Given the description of an element on the screen output the (x, y) to click on. 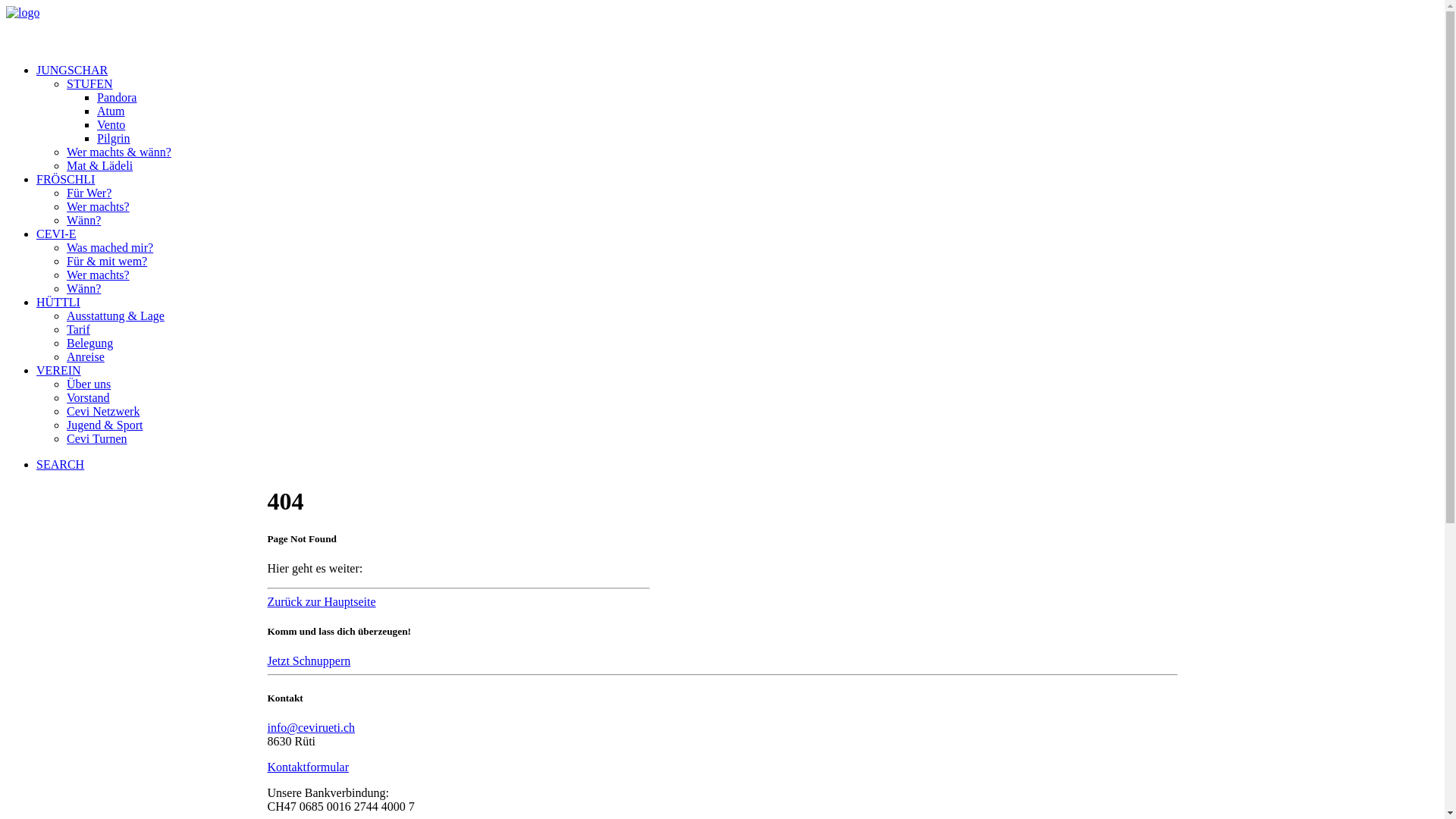
Belegung Element type: text (89, 342)
VEREIN Element type: text (58, 370)
CEVI-E Element type: text (55, 233)
Wer machts? Element type: text (97, 274)
STUFEN Element type: text (89, 83)
Cevi Netzwerk Element type: text (102, 410)
SEARCH Element type: text (60, 464)
Pilgrin Element type: text (113, 137)
Jetzt Schnuppern Element type: text (308, 660)
info@cevirueti.ch Element type: text (310, 727)
Anreise Element type: text (85, 356)
Vorstand Element type: text (87, 397)
Jugend & Sport Element type: text (104, 424)
Cevi Turnen Element type: text (96, 438)
Tarif Element type: text (78, 329)
Kontaktformular Element type: text (307, 766)
Was mached mir? Element type: text (109, 247)
Pandora Element type: text (116, 97)
JUNGSCHAR Element type: text (71, 69)
Ausstattung & Lage Element type: text (115, 315)
Wer machts? Element type: text (97, 206)
Vento Element type: text (111, 124)
Atum Element type: text (110, 110)
